Given the description of an element on the screen output the (x, y) to click on. 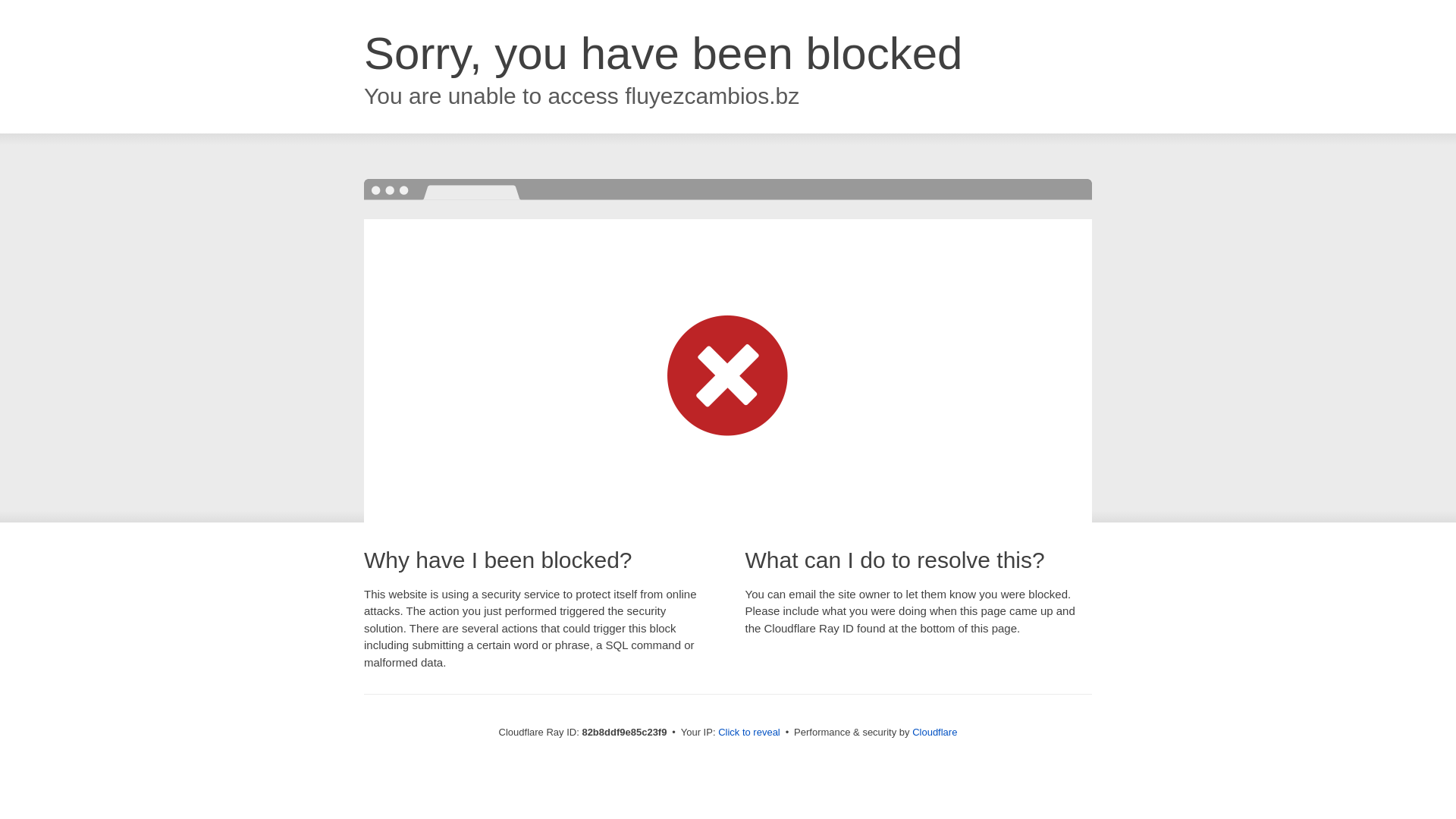
Cloudflare Element type: text (934, 731)
Click to reveal Element type: text (749, 732)
